Given the description of an element on the screen output the (x, y) to click on. 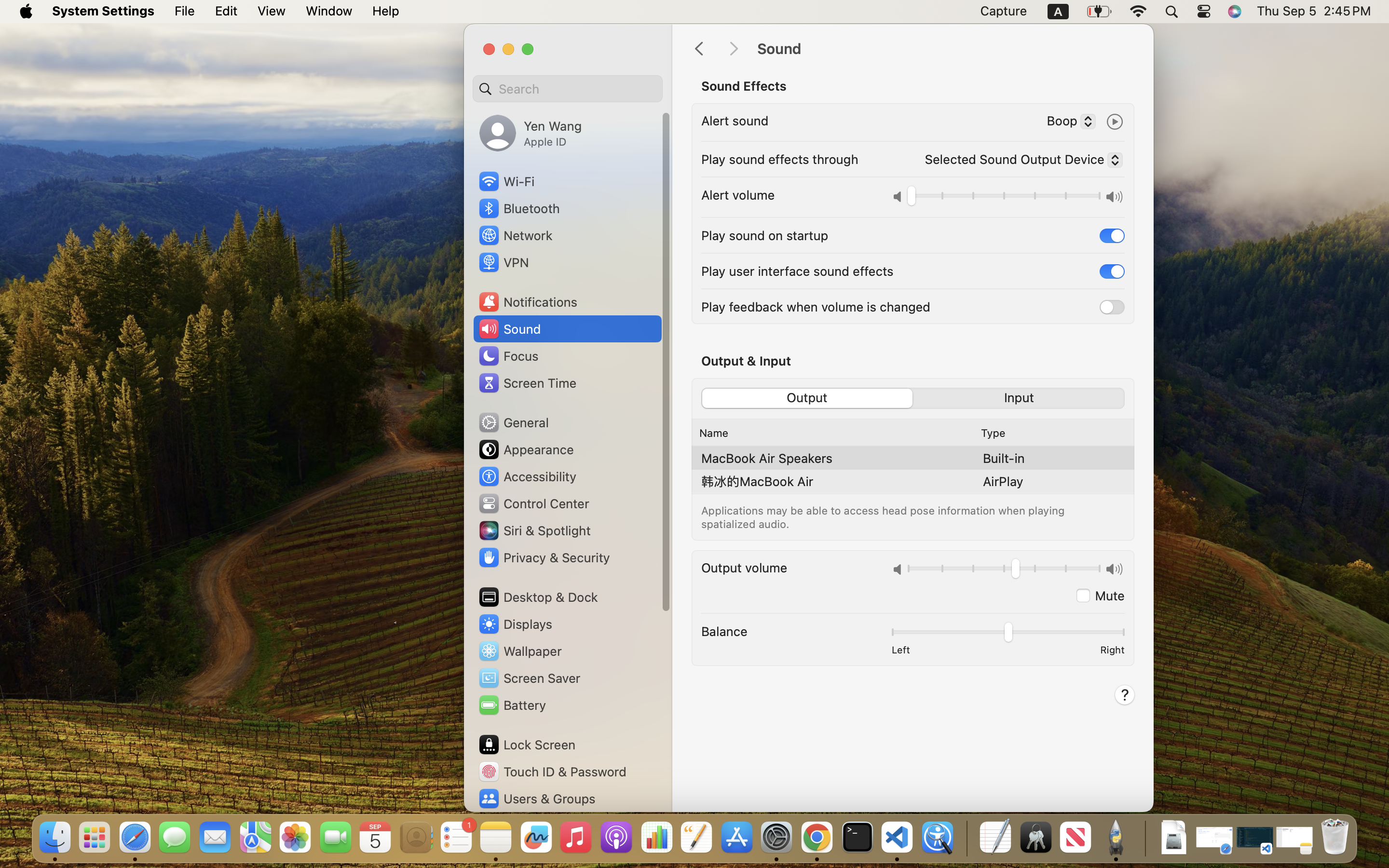
Applications may be able to access head pose information when playing spatialized audio. Element type: AXStaticText (884, 516)
Built-in Element type: AXStaticText (1003, 457)
Wi‑Fi Element type: AXStaticText (505, 180)
Accessibility Element type: AXStaticText (526, 476)
